Given the description of an element on the screen output the (x, y) to click on. 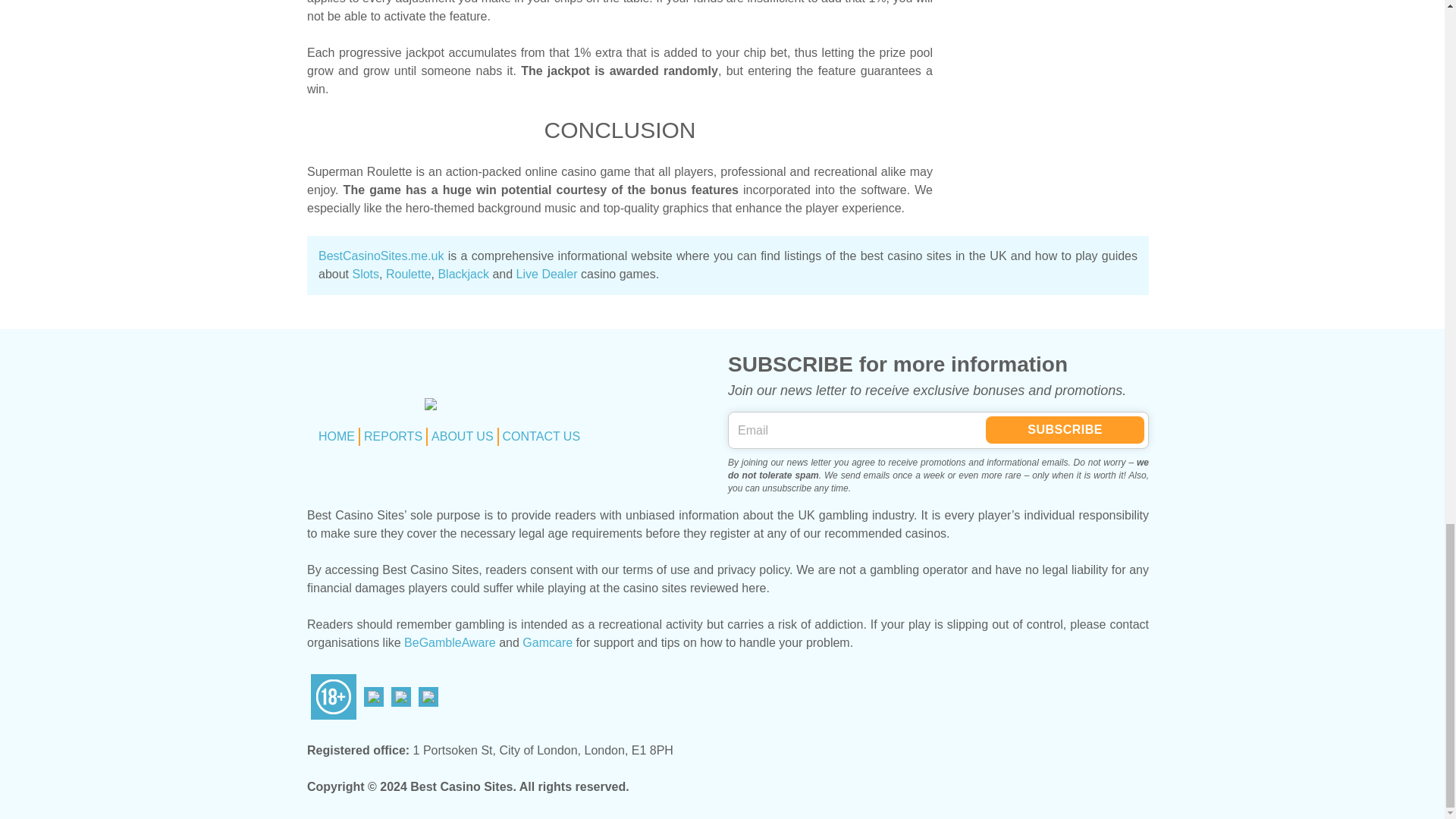
Blackjack (463, 273)
Live Dealer (547, 273)
Slots (365, 273)
CONTACT US (541, 436)
Gamcare (547, 642)
REPORTS (393, 436)
BestCasinoSites.me.uk (381, 255)
SUBSCRIBE (1064, 429)
HOME (336, 436)
Roulette (407, 273)
ABOUT US (461, 436)
SUBSCRIBE (1064, 429)
BeGambleAware (450, 642)
